Given the description of an element on the screen output the (x, y) to click on. 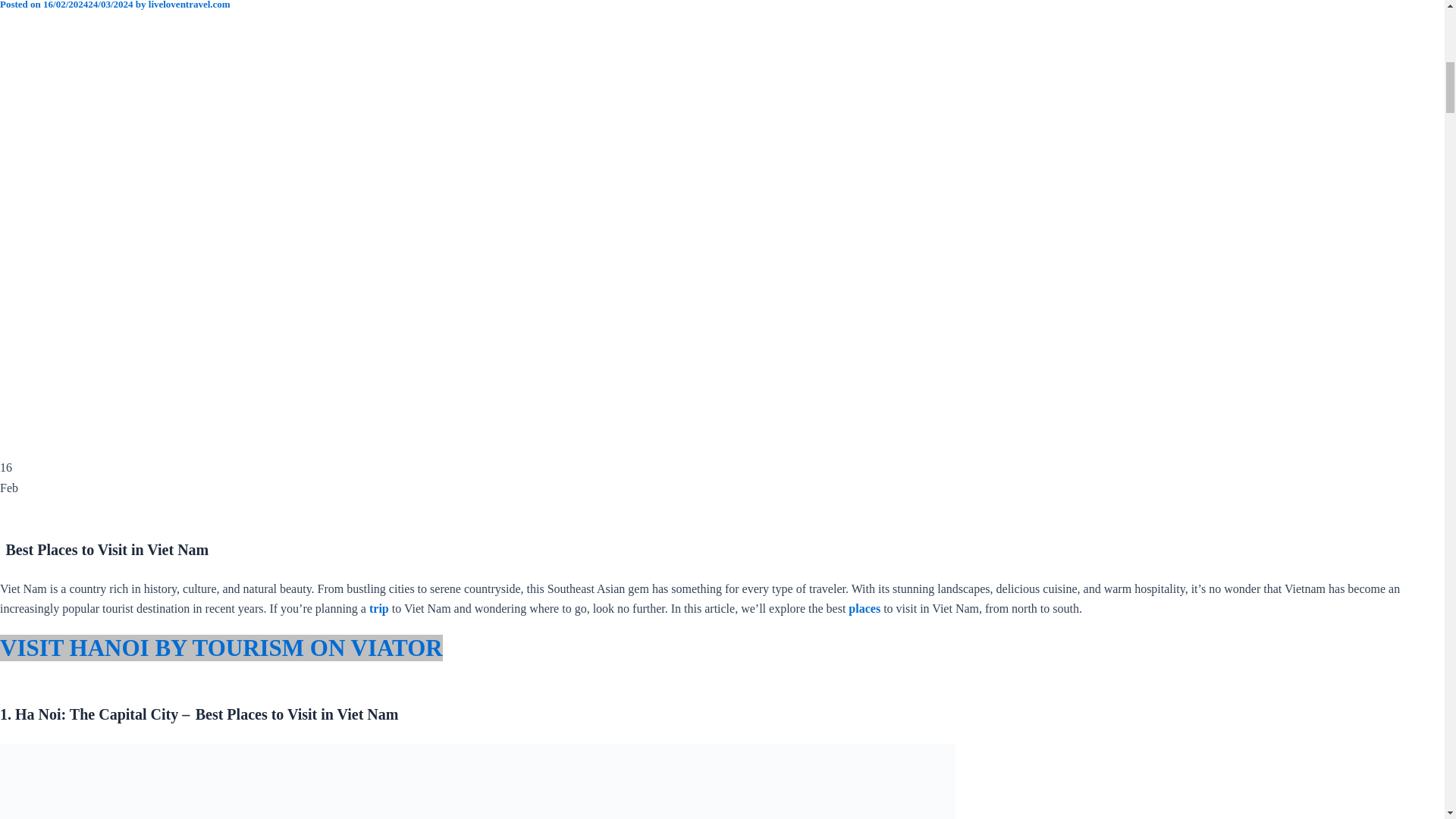
liveloventravel.com (189, 4)
places (864, 608)
trip (378, 608)
Best Places to Visit in Viet Nam (477, 781)
VISIT HANOI BY TOURISM ON VIATOR (221, 647)
